Given the description of an element on the screen output the (x, y) to click on. 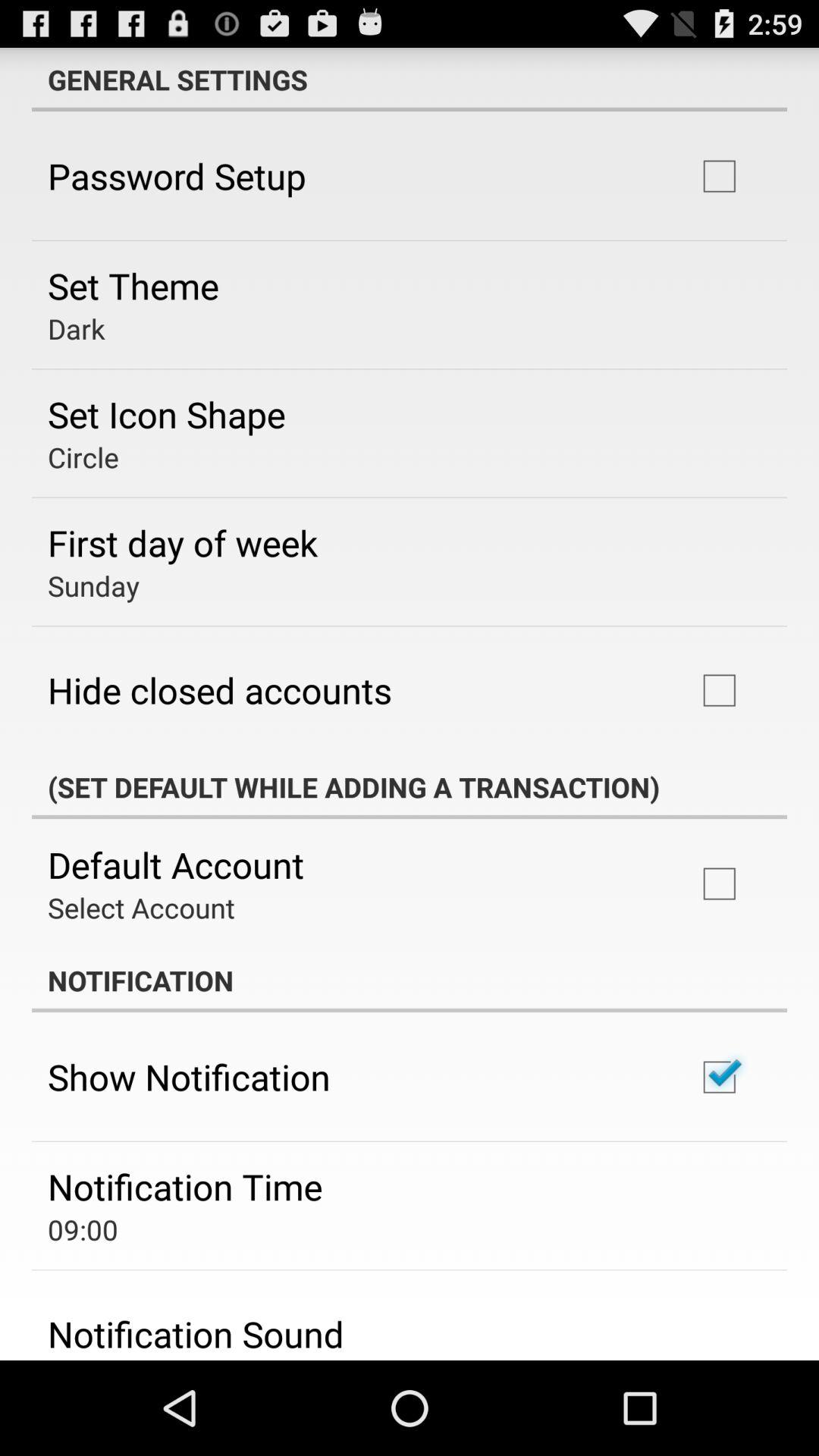
choose the icon above the first day of (82, 457)
